Given the description of an element on the screen output the (x, y) to click on. 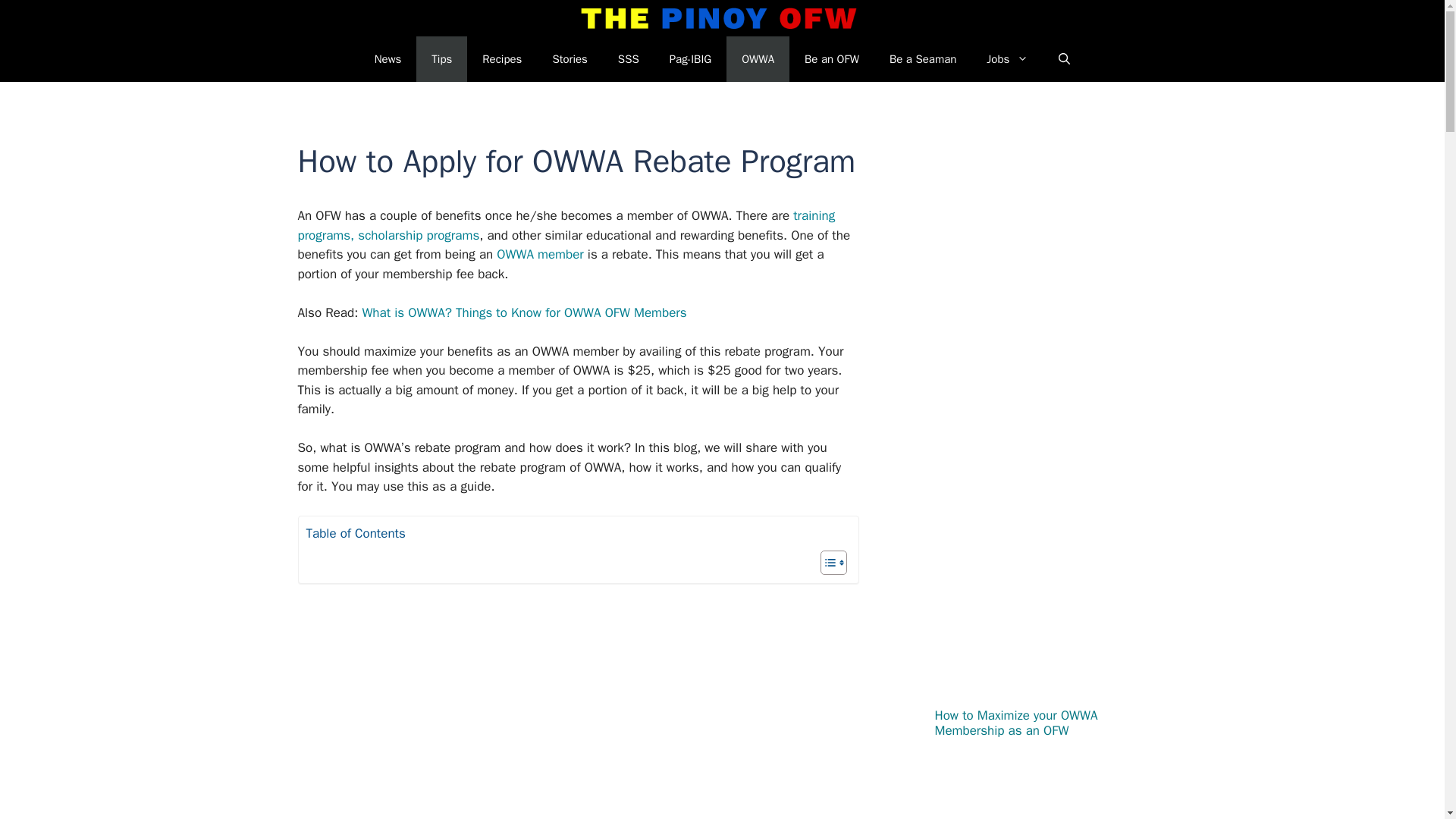
SSS (627, 58)
Stories (569, 58)
Tips (441, 58)
Be an OFW (832, 58)
The Pinoy OFW (718, 18)
OWWA (757, 58)
Be a Seaman (923, 58)
Pag-IBIG (689, 58)
Jobs (1007, 58)
Recipes (502, 58)
